Given the description of an element on the screen output the (x, y) to click on. 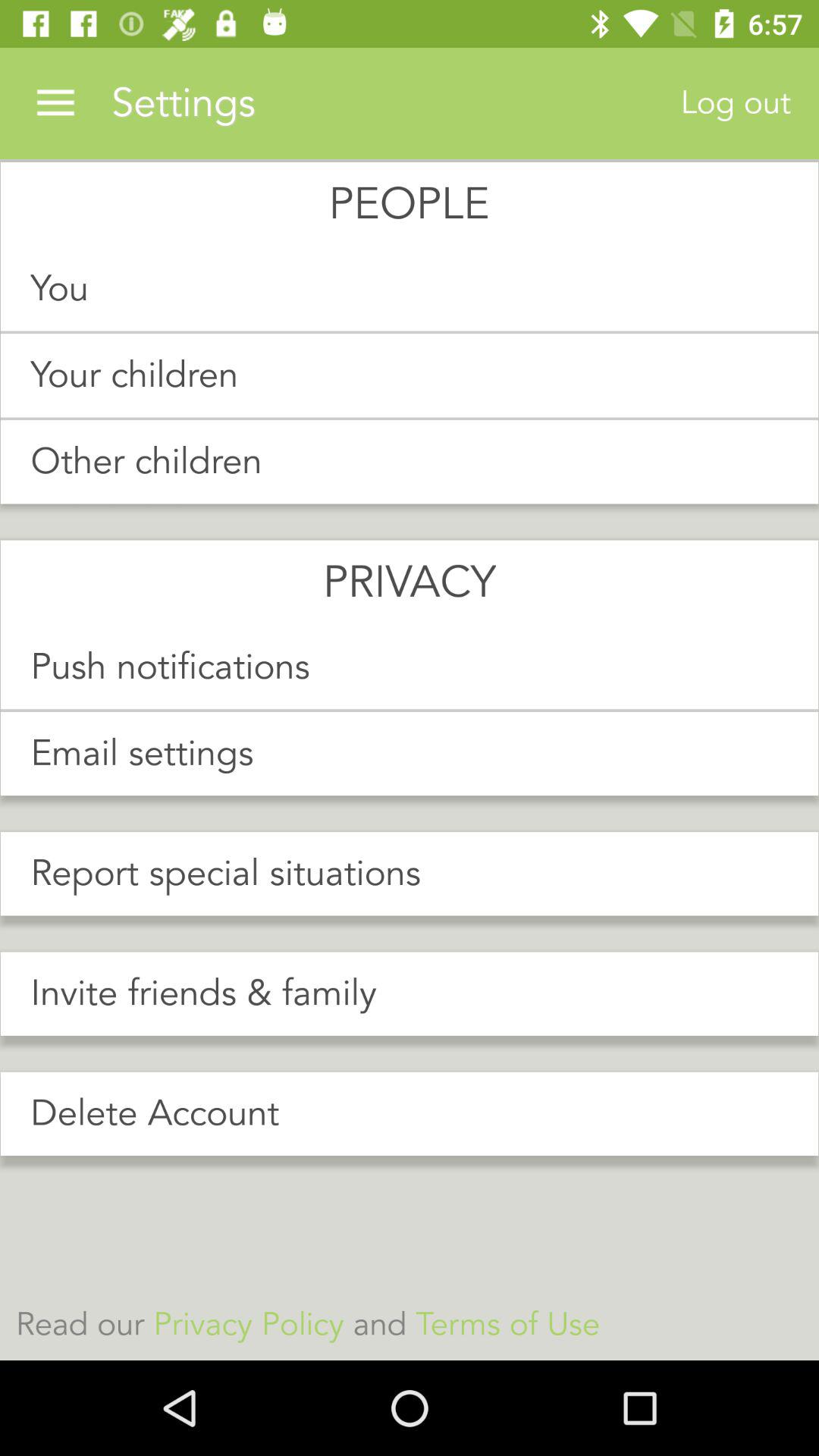
launch your children item (409, 375)
